Given the description of an element on the screen output the (x, y) to click on. 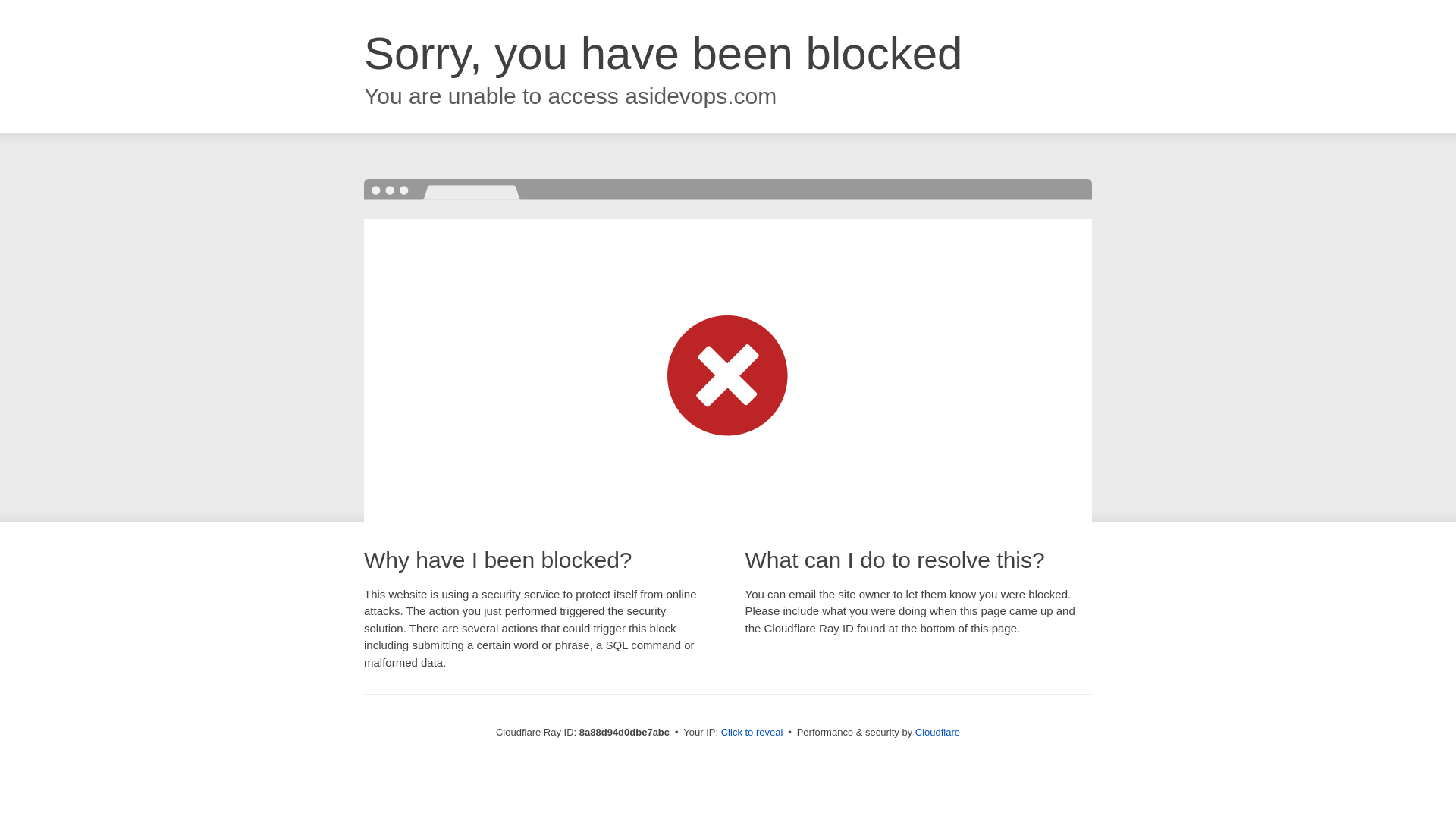
Click to reveal (751, 732)
Cloudflare (937, 731)
